Given the description of an element on the screen output the (x, y) to click on. 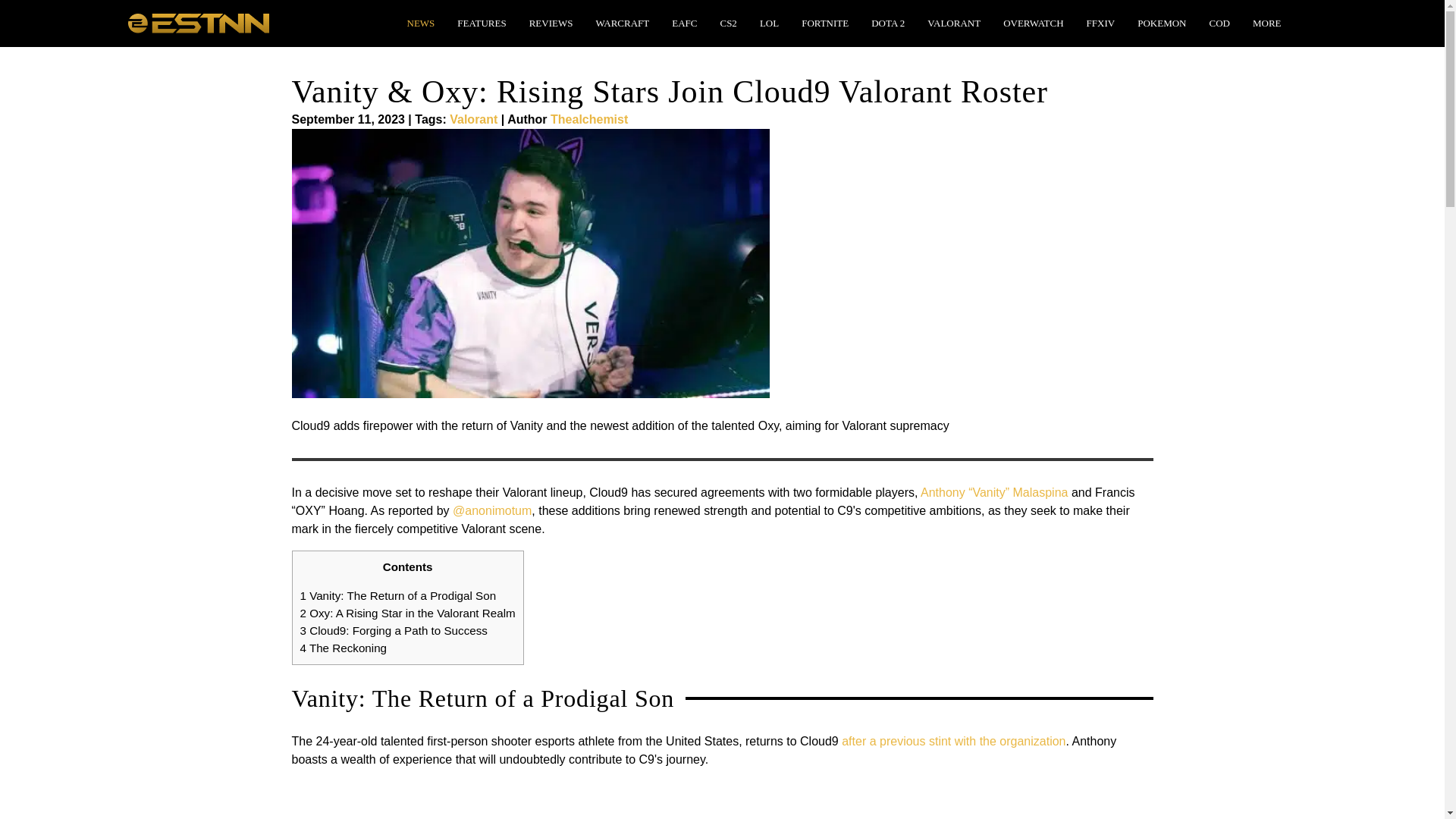
OVERWATCH (1032, 23)
NEWS (420, 23)
2 Oxy: A Rising Star in the Valorant Realm (407, 612)
MORE (1266, 23)
COD (1218, 23)
WARCRAFT (622, 23)
FFXIV (1100, 23)
VALORANT (954, 23)
3 Cloud9: Forging a Path to Success (393, 630)
Posts by Thealchemist (588, 119)
EAFC (683, 23)
CS2 (727, 23)
Valorant (473, 119)
FORTNITE (824, 23)
Home (197, 21)
